Given the description of an element on the screen output the (x, y) to click on. 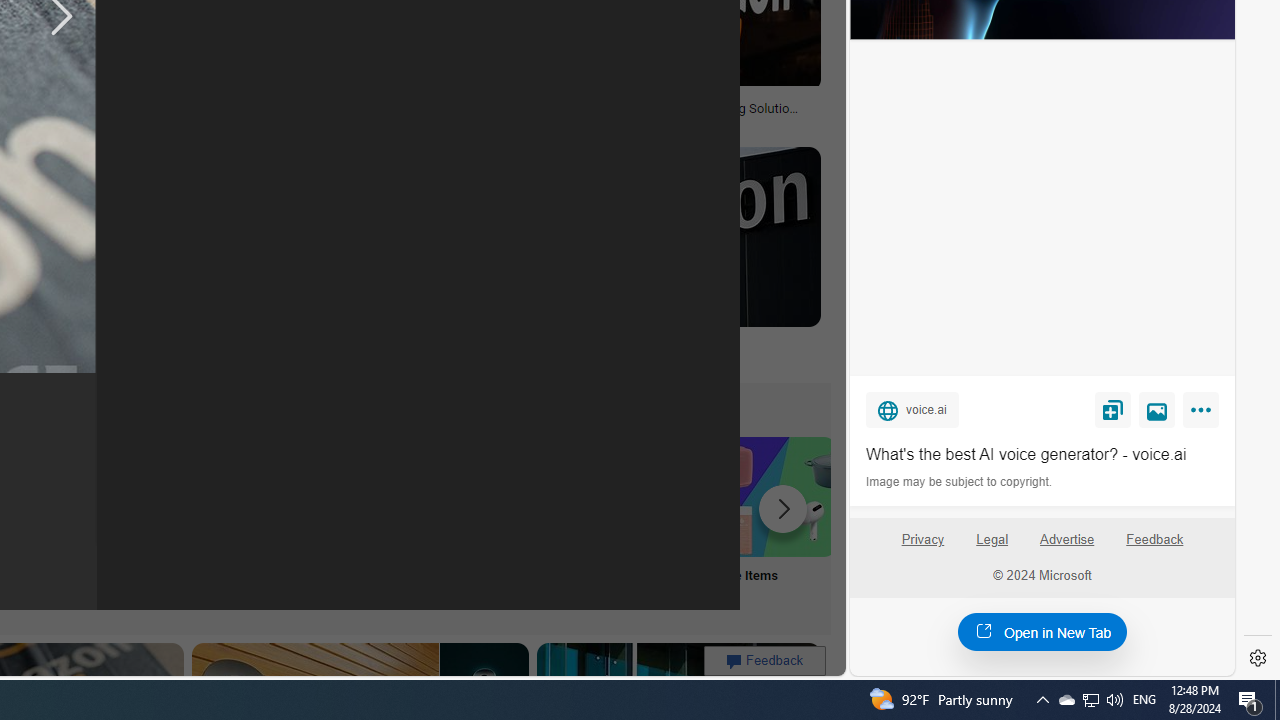
Amazon Online Shopping Homepage Online Shopping Homepage (248, 521)
cordcuttersnews.com (234, 358)
protothema.gr (554, 358)
Amazon Prime Shopping Online (380, 496)
cordcuttersnews.com (331, 359)
Amazon Prime Label Prime Label (511, 521)
Amazon Online Shopping Homepage (248, 496)
Amazonprotothema.grSave (662, 260)
Privacy (922, 547)
mobilemarketingmagazine.com (574, 121)
Scroll more suggestions right (783, 508)
Online Shopping Homepage (248, 521)
Image may be subject to copyright. (959, 481)
